Given the description of an element on the screen output the (x, y) to click on. 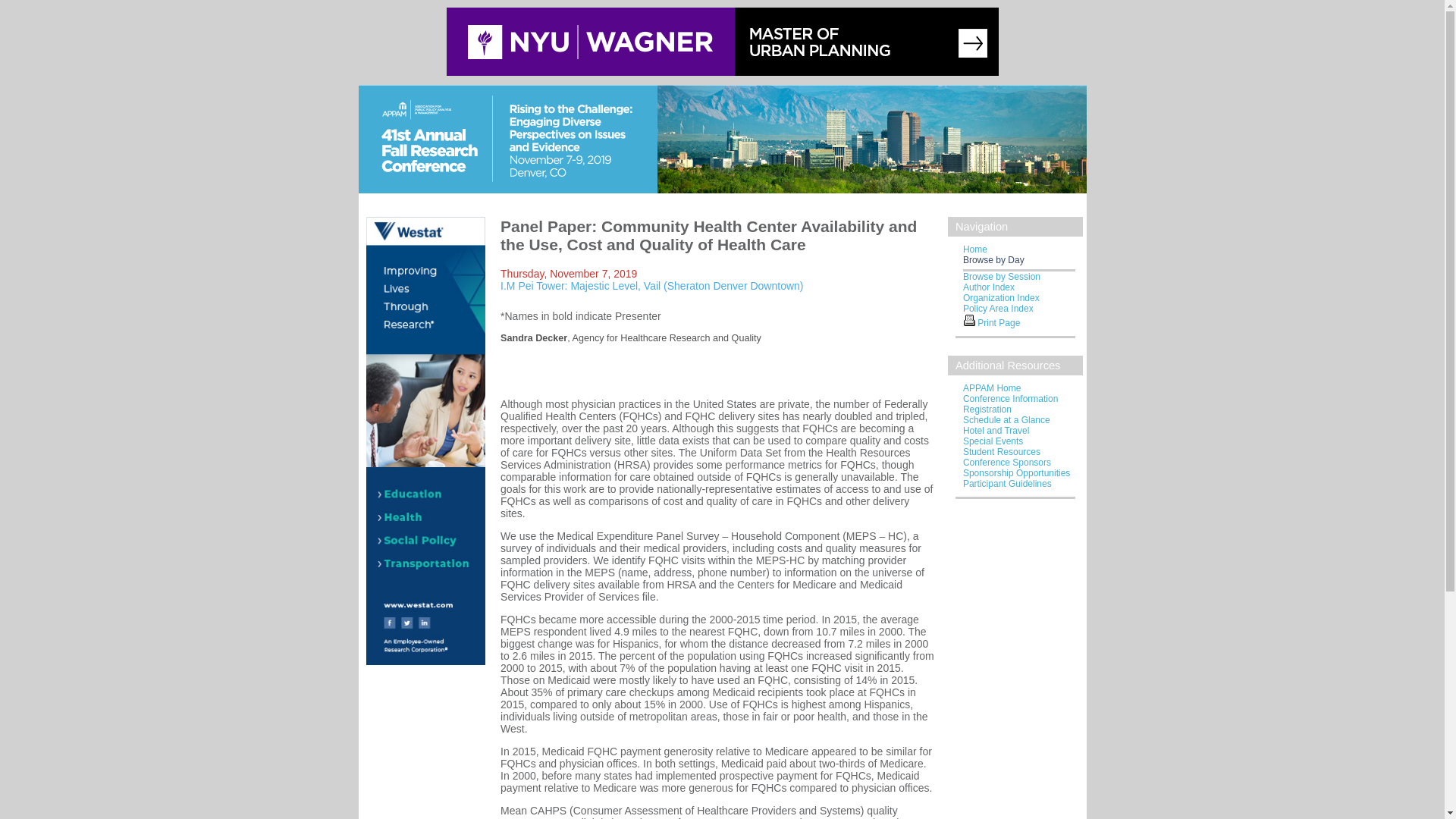
Print Page (968, 319)
Browse by Session (1001, 276)
Home (974, 249)
Browse by Day (993, 259)
